Given the description of an element on the screen output the (x, y) to click on. 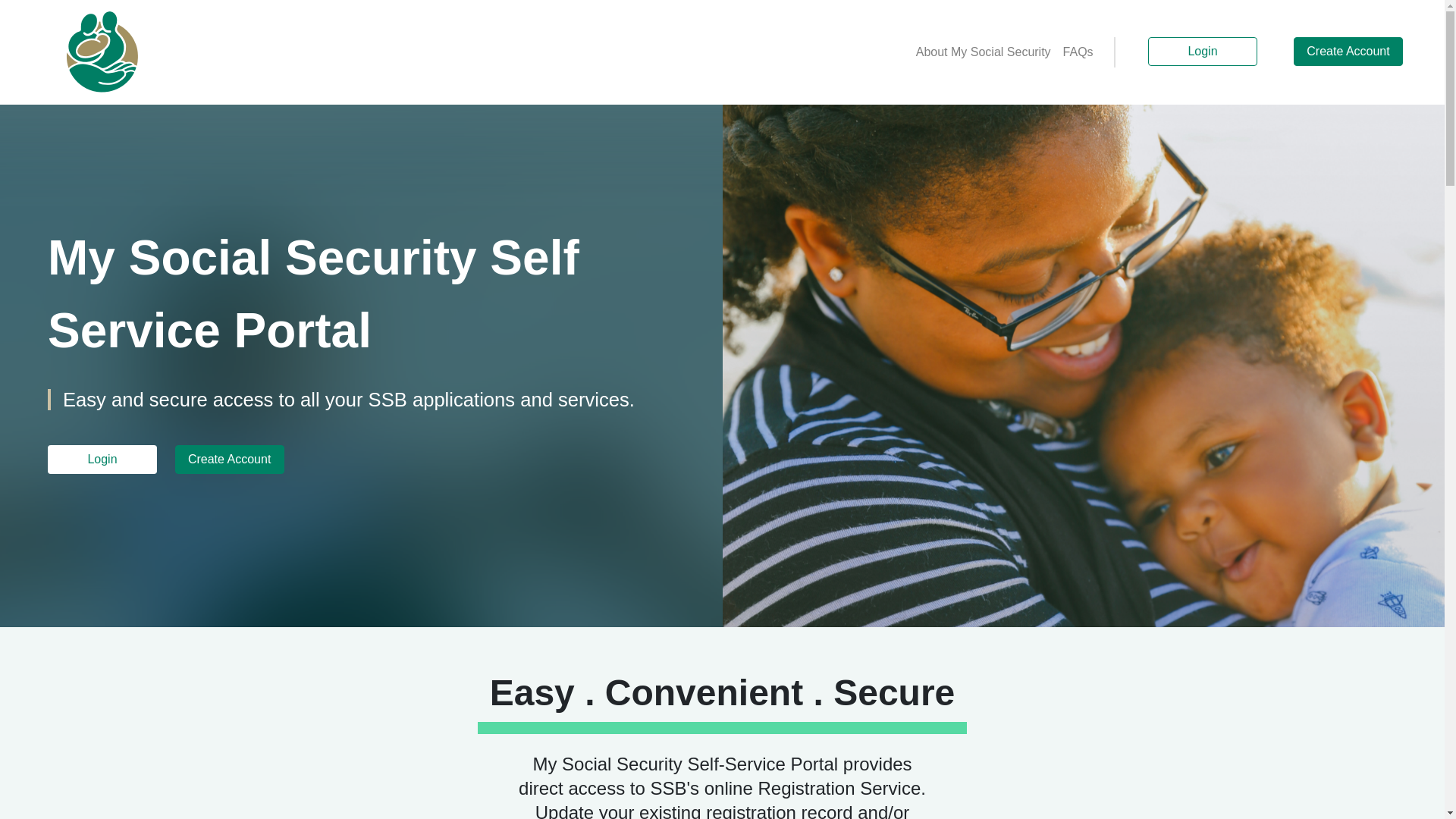
Create Account Element type: text (1347, 51)
FAQs Element type: text (1078, 52)
Login Element type: text (101, 459)
Login Element type: text (1202, 51)
Create Account Element type: text (229, 459)
About My Social Security Element type: text (983, 52)
